Given the description of an element on the screen output the (x, y) to click on. 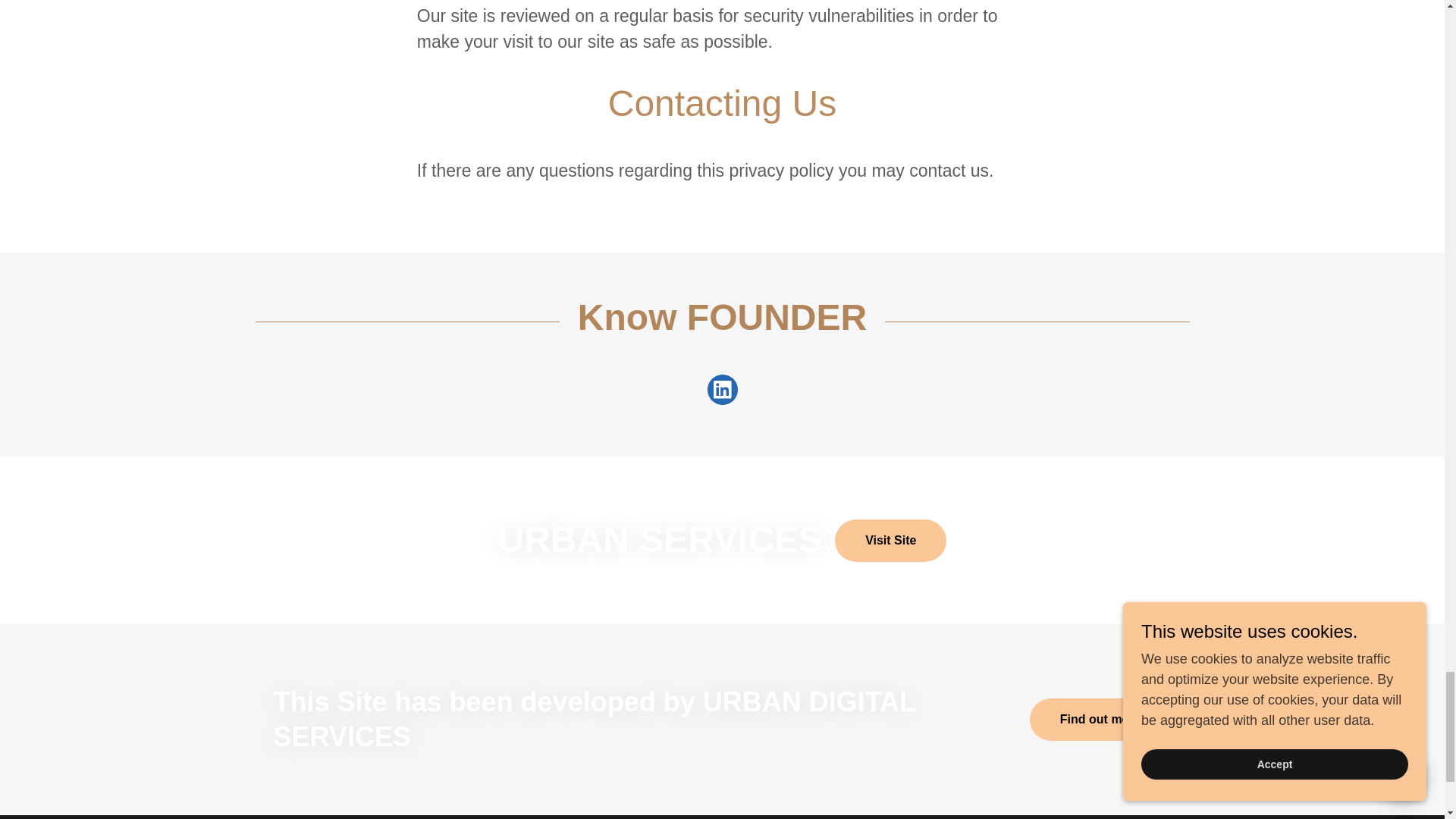
Find out more (1100, 719)
Visit Site (890, 540)
